Given the description of an element on the screen output the (x, y) to click on. 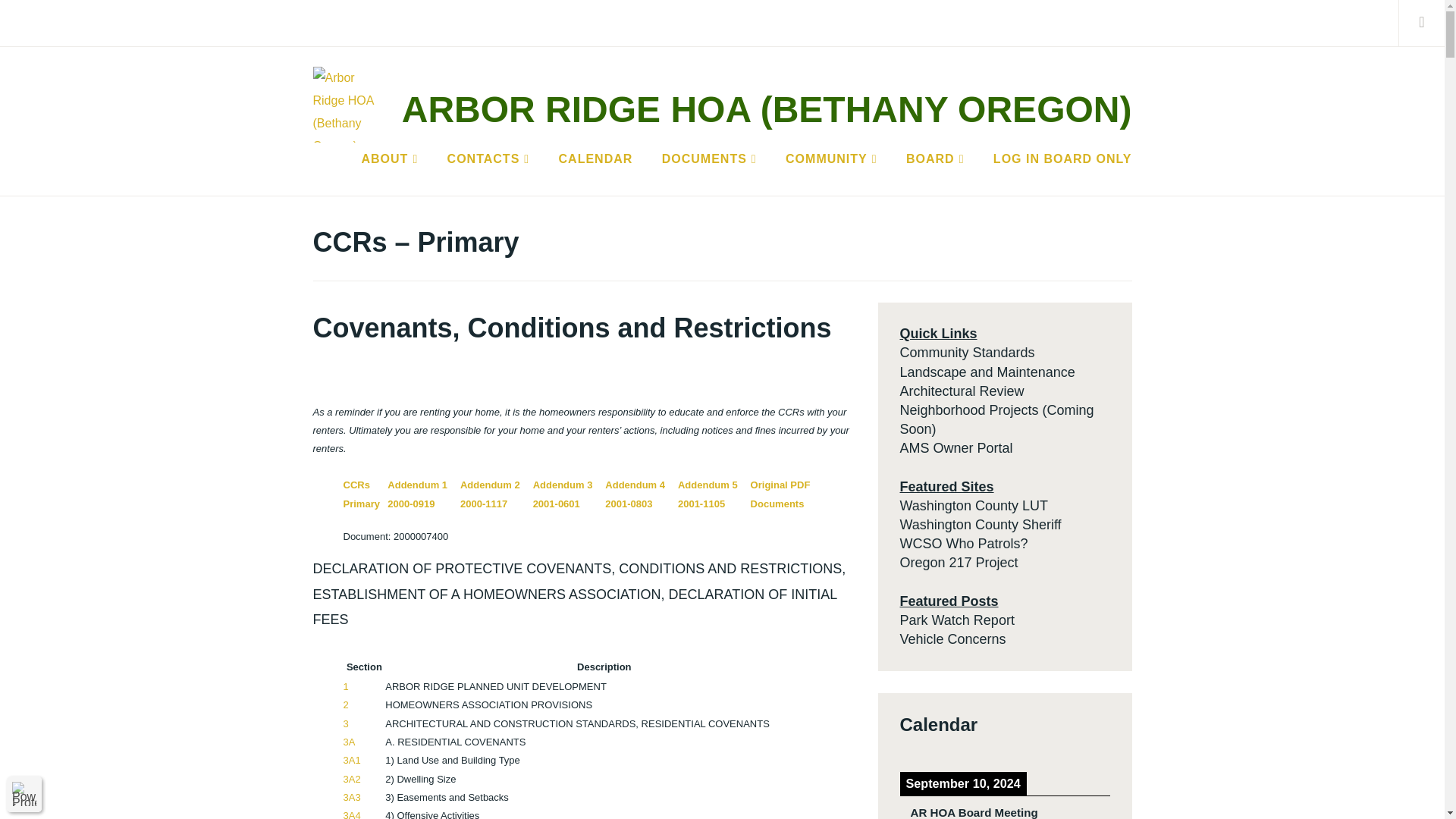
ABOUT (389, 159)
CALENDAR (596, 159)
COMMUNITY (831, 159)
CONTACTS (487, 159)
Shield Security (23, 793)
Search (47, 22)
DOCUMENTS (709, 159)
